Given the description of an element on the screen output the (x, y) to click on. 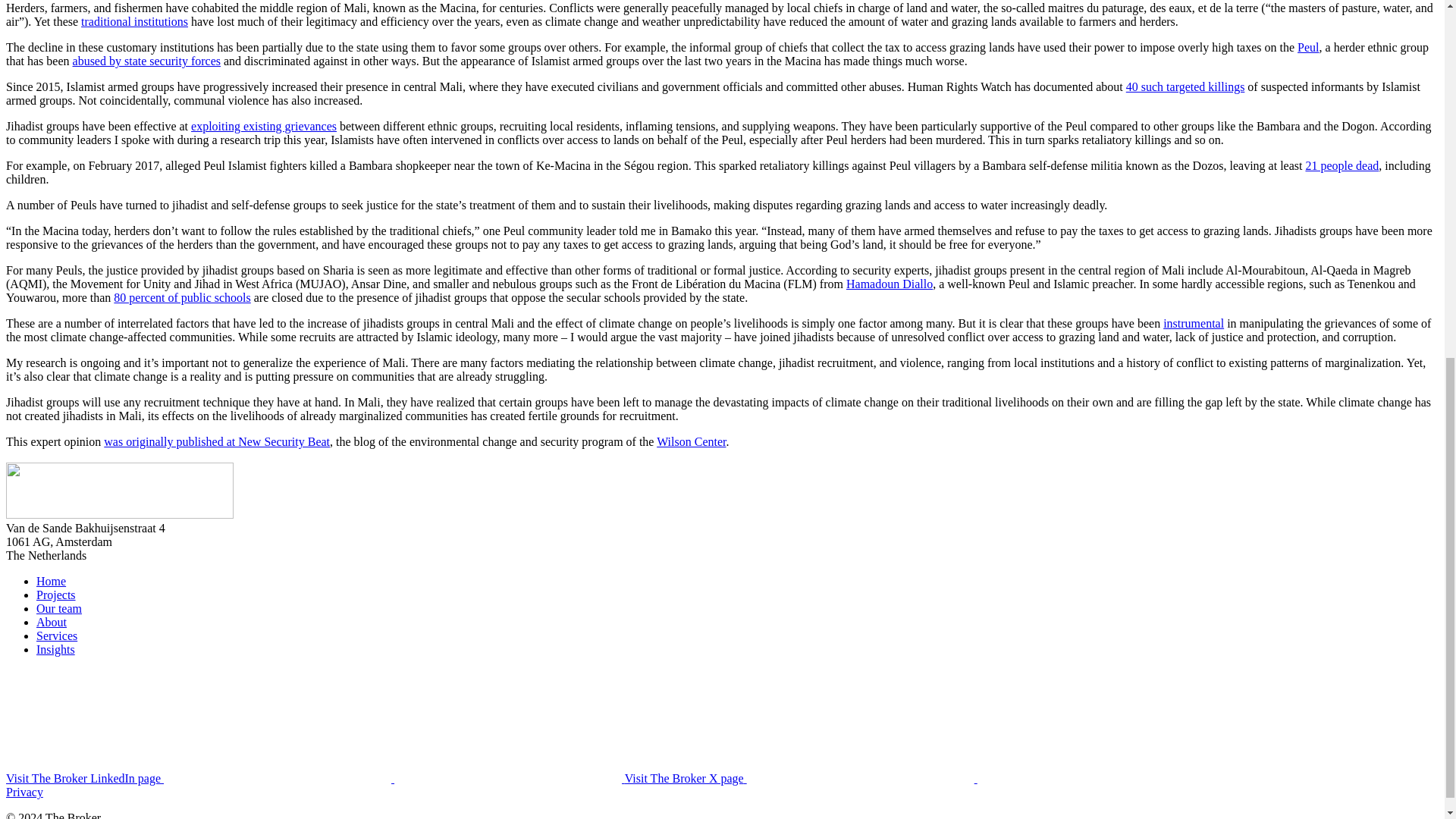
Projects (55, 594)
exploiting existing grievances (263, 125)
About (51, 621)
was originally published at New Security Beat (216, 440)
80 percent of public schools (181, 297)
abused by state security forces (146, 60)
Visit The Broker X page (914, 778)
Home (50, 581)
Privacy (24, 791)
Insights (55, 649)
Services (56, 635)
Wilson Center (690, 440)
instrumental (1193, 323)
traditional institutions (134, 21)
Peul (1308, 47)
